Given the description of an element on the screen output the (x, y) to click on. 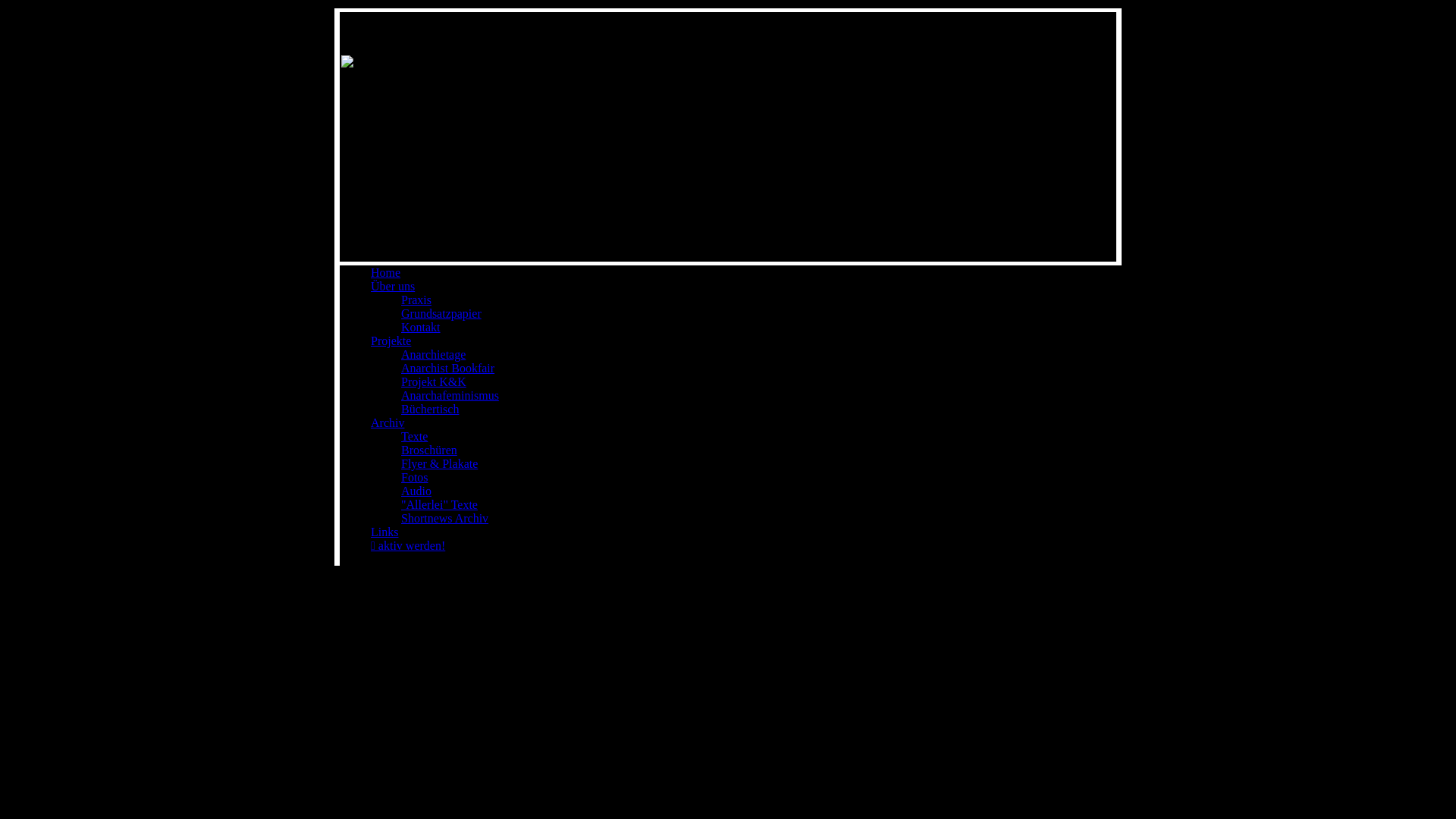
Shortnews Archiv Element type: text (444, 517)
Projekte Element type: text (390, 340)
Kontakt Element type: text (420, 326)
Home Element type: text (385, 272)
Anarchist Bookfair Element type: text (447, 367)
Audio Element type: text (416, 490)
Archiv Element type: text (387, 422)
Projekt K&K Element type: text (433, 381)
Flyer & Plakate Element type: text (439, 463)
Fotos Element type: text (414, 476)
Links Element type: text (384, 531)
Grundsatzpapier Element type: text (441, 313)
Anarchietage Element type: text (433, 354)
Anarchafeminismus Element type: text (449, 395)
"Allerlei" Texte Element type: text (439, 504)
Texte Element type: text (414, 435)
Praxis Element type: text (416, 299)
